Given the description of an element on the screen output the (x, y) to click on. 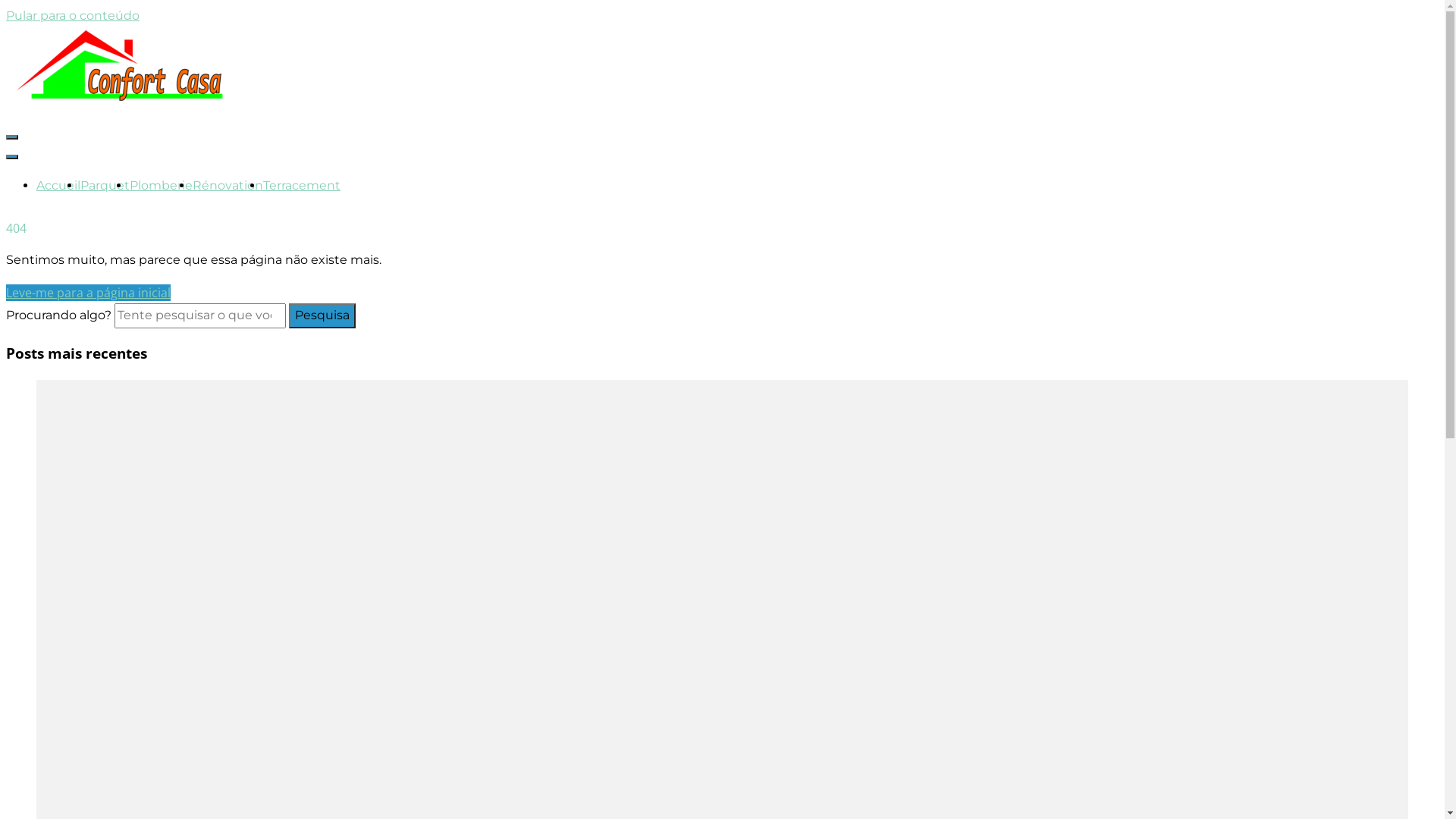
Plomberie Element type: text (160, 185)
Terracement Element type: text (301, 185)
Confort Casa Element type: text (108, 178)
Pesquisa Element type: text (321, 315)
Accueil Element type: text (58, 185)
Parquet Element type: text (104, 185)
